Given the description of an element on the screen output the (x, y) to click on. 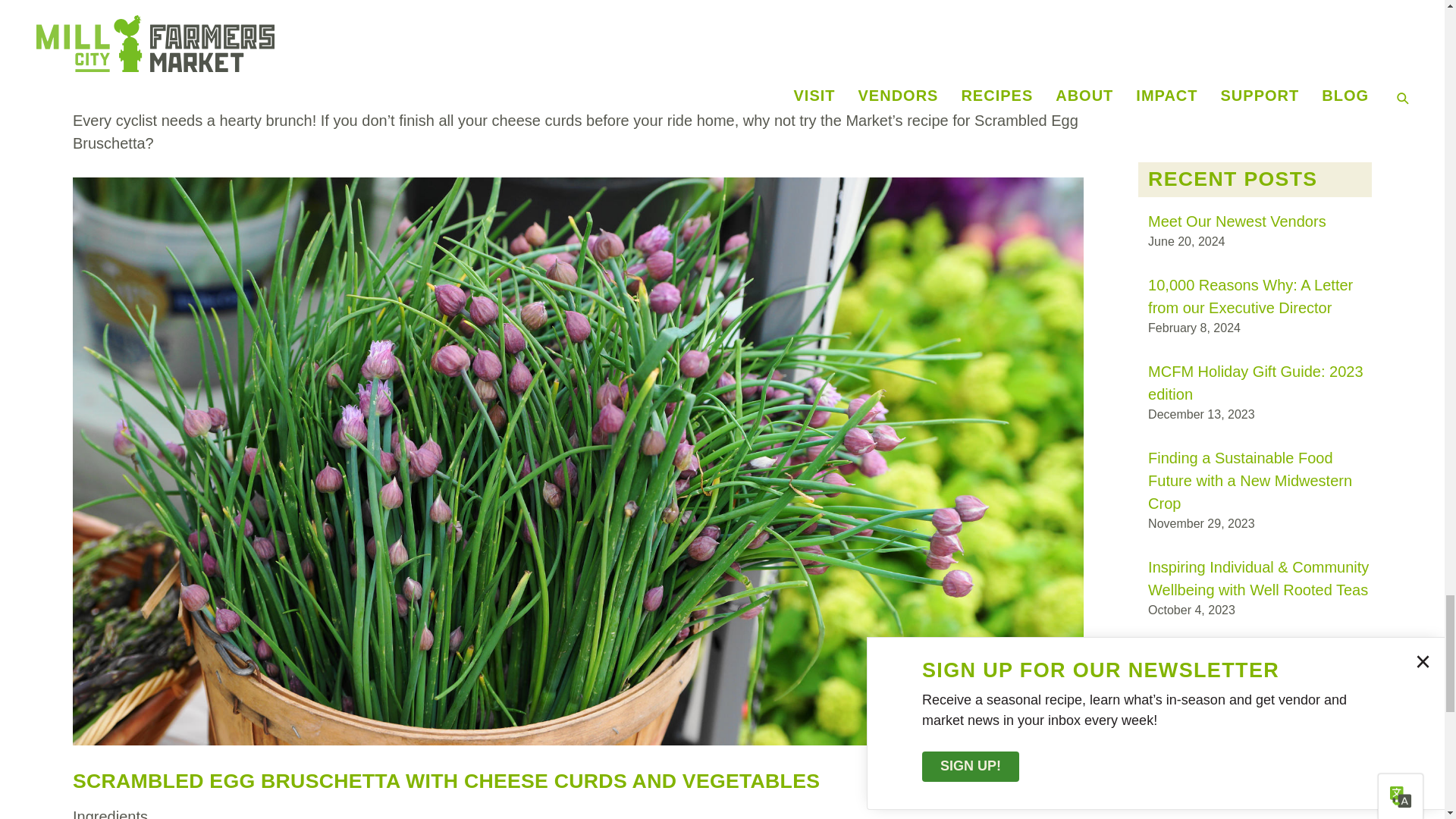
Cosmic Wheel (864, 52)
Prairie Hollow (967, 52)
Cycling Museum of Minnesota (402, 29)
Nice Ride (204, 29)
